Given the description of an element on the screen output the (x, y) to click on. 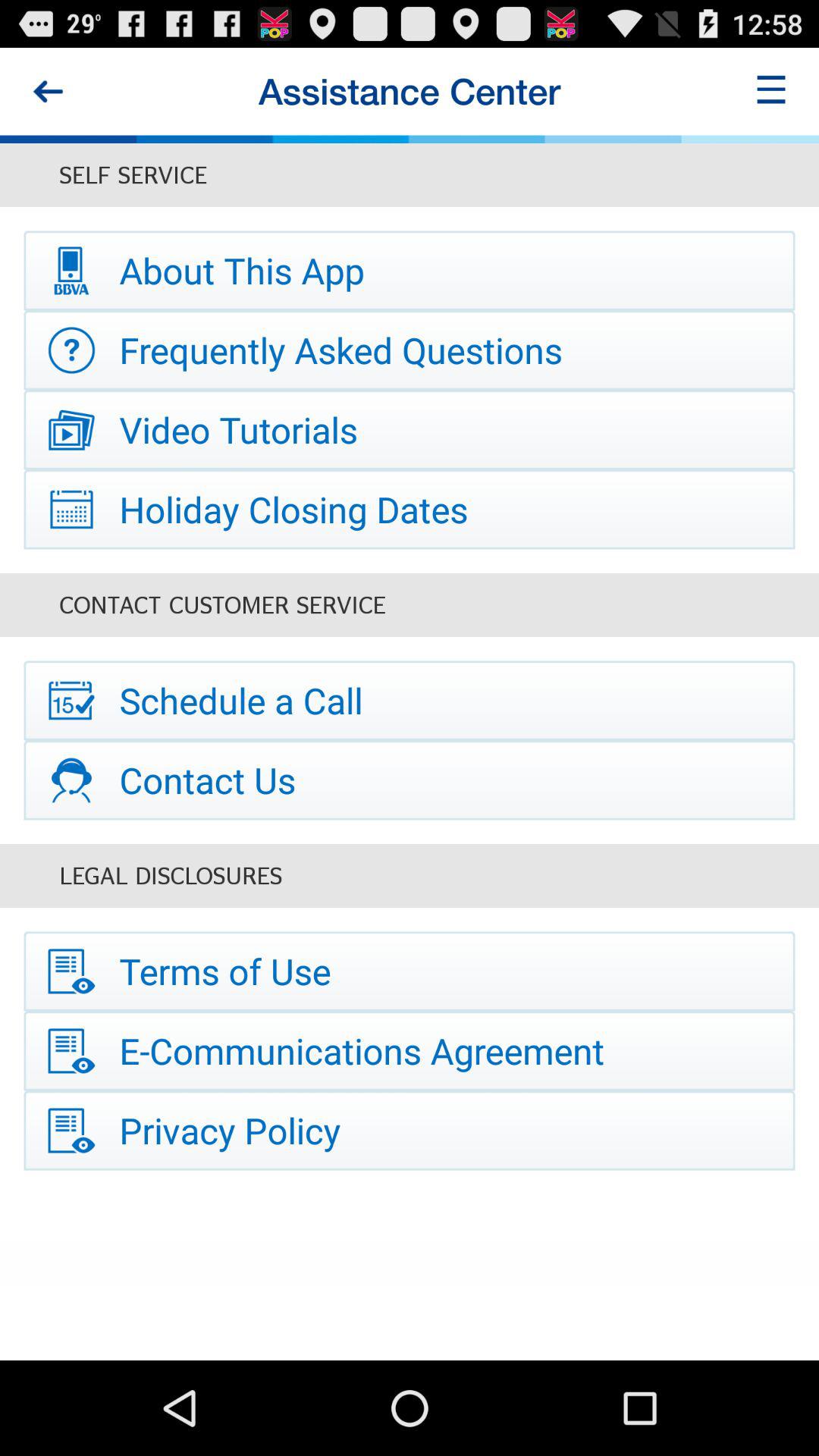
choose the privacy policy item (409, 1130)
